Given the description of an element on the screen output the (x, y) to click on. 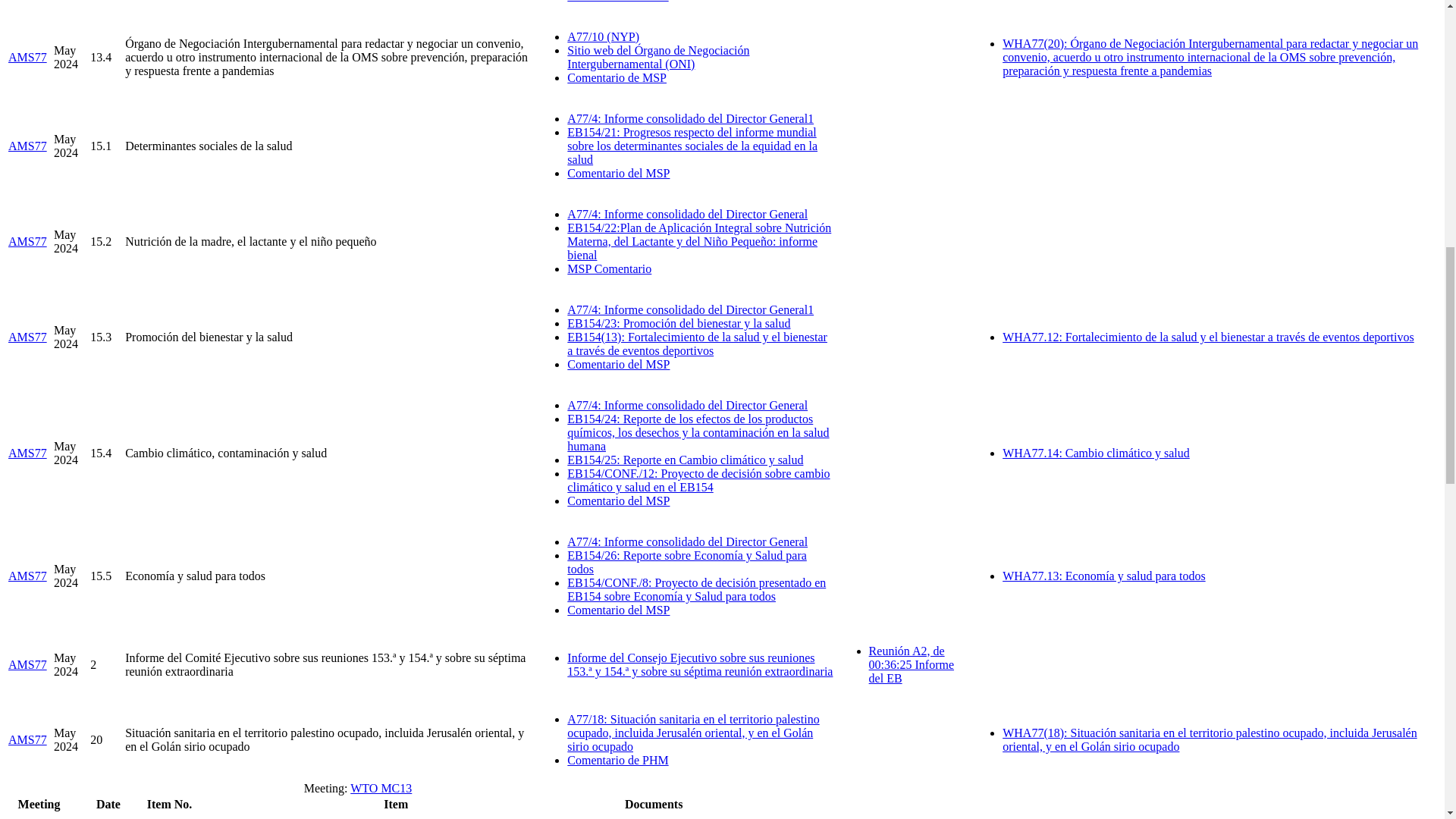
Comentario de PHM (617, 1)
MSP Comentario (608, 268)
Comentario del MSP (618, 173)
AMS77 (27, 56)
Comentario de MSP (616, 77)
Comentario del MSP (618, 364)
AMS77 (27, 336)
AMS77 (27, 145)
AMS77 (27, 452)
AMS77 (27, 241)
